Given the description of an element on the screen output the (x, y) to click on. 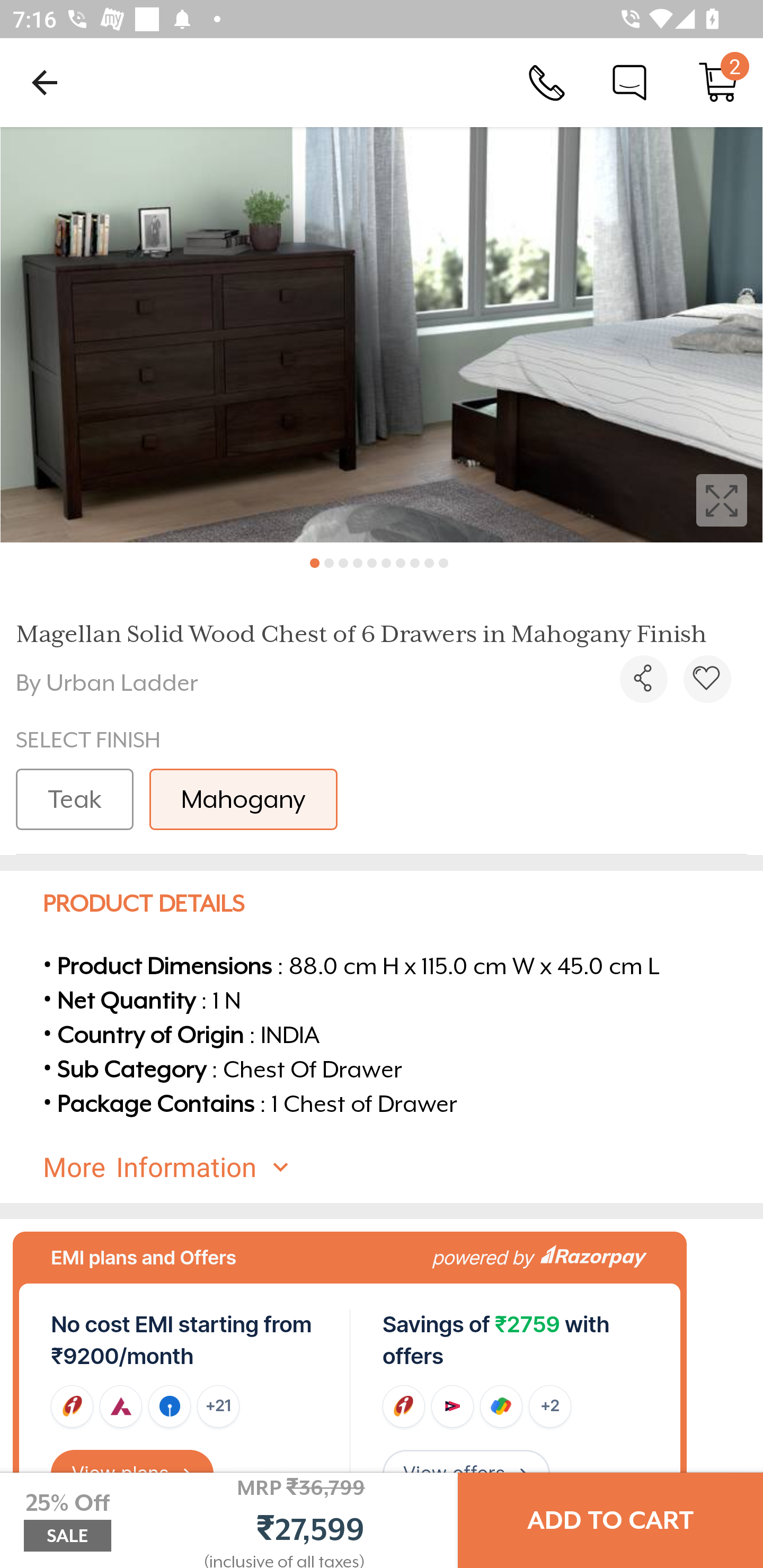
Navigate up (44, 82)
Call Us (546, 81)
Chat (629, 81)
Cart (718, 81)
 (381, 334)
 (643, 678)
 (706, 678)
Teak (74, 798)
Mahogany (243, 798)
More Information  (396, 1166)
ADD TO CART (610, 1520)
